Given the description of an element on the screen output the (x, y) to click on. 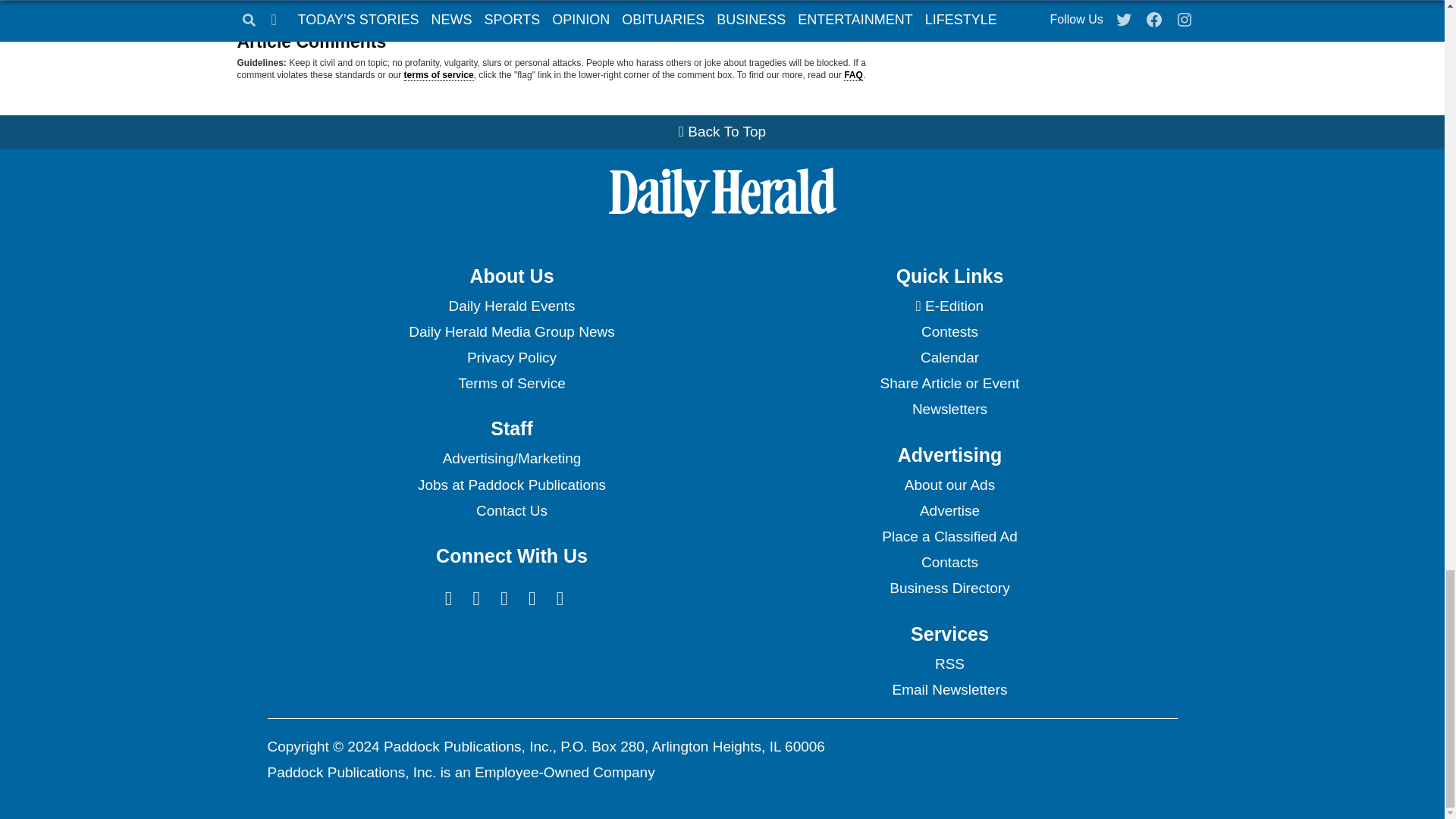
Daily Herald Events (511, 306)
Contact Us (511, 510)
Daily Herald Media Group News (511, 331)
Contests (949, 331)
Terms of Service (511, 383)
Daily Herald Digital Newspaper (949, 306)
Jobs at Paddock Publications (511, 484)
Privacy Policy (511, 357)
